Given the description of an element on the screen output the (x, y) to click on. 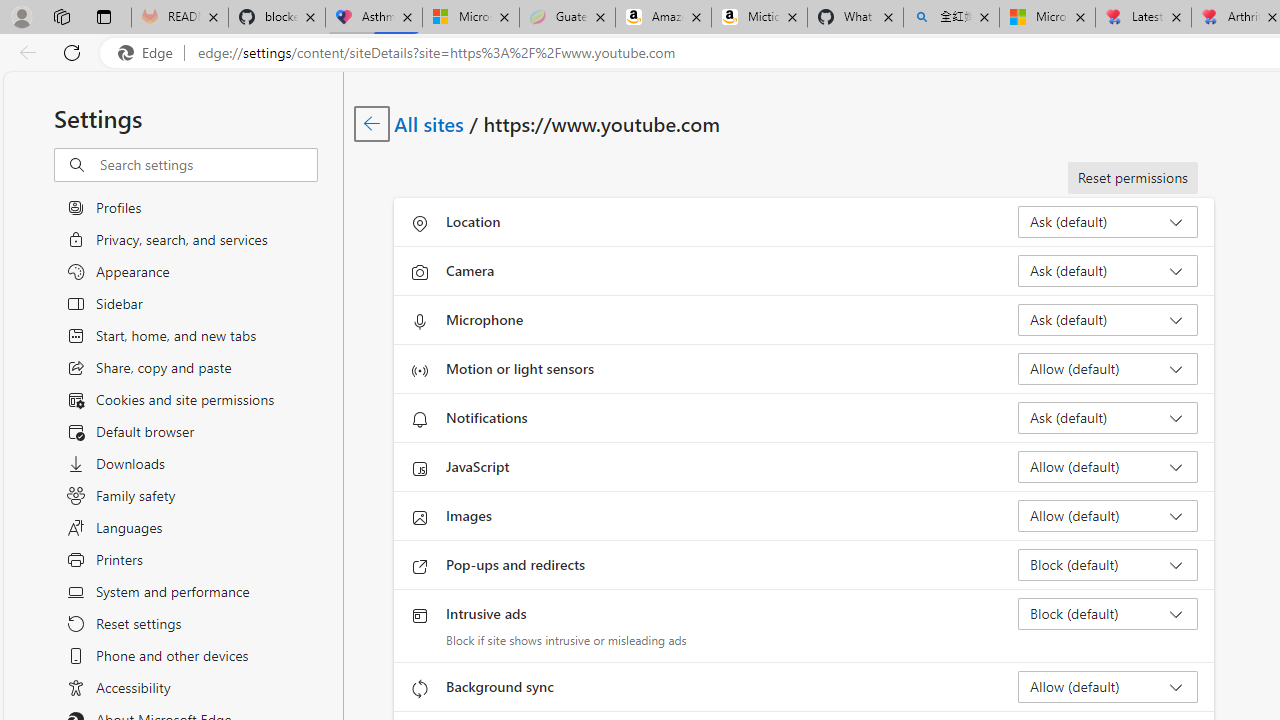
Images Allow (default) (1107, 515)
Pop-ups and redirects Block (default) (1107, 564)
